Given the description of an element on the screen output the (x, y) to click on. 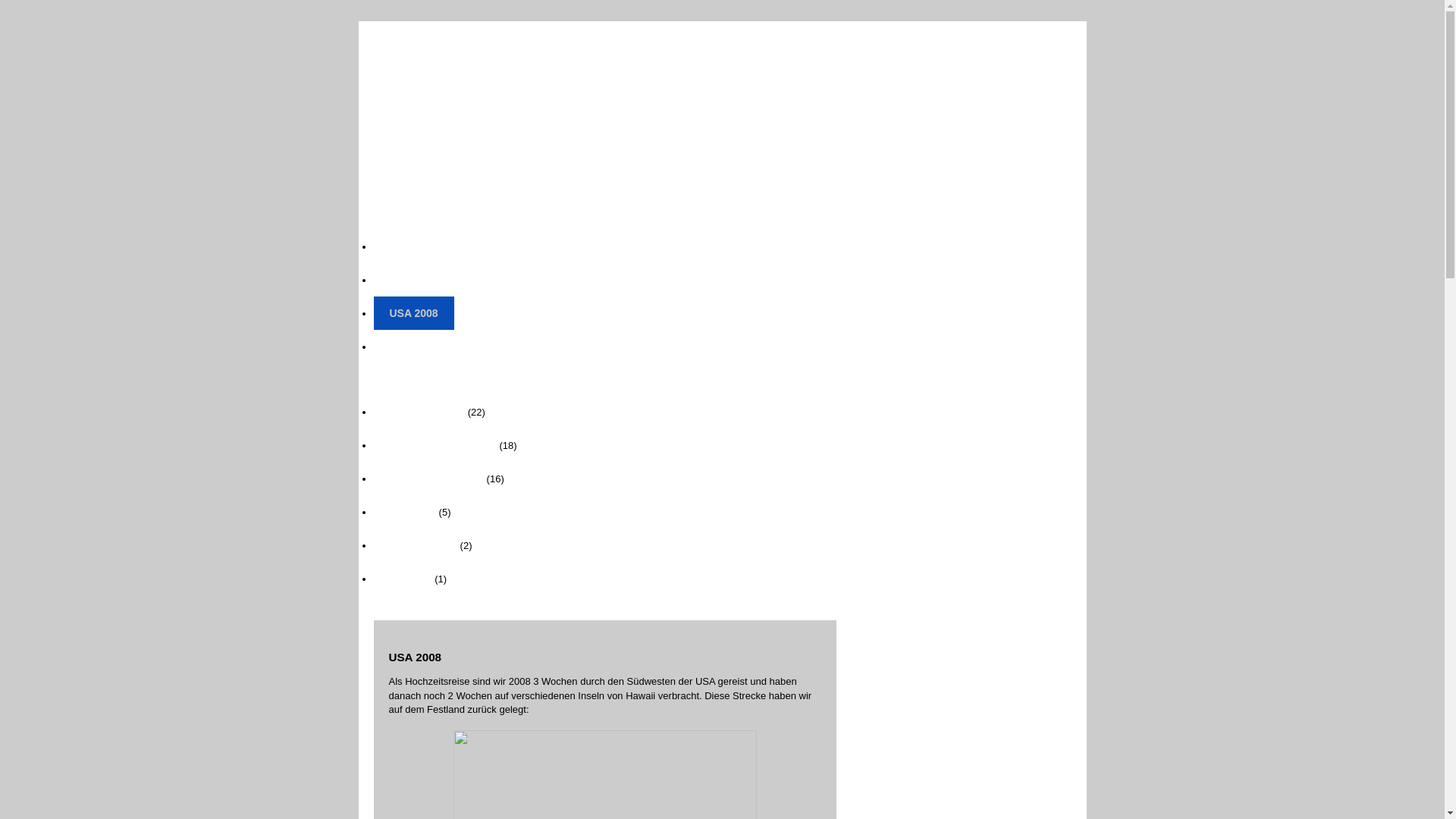
Kuba Element type: text (402, 578)
Home Element type: text (403, 246)
Explore the World Element type: text (560, 92)
Neuseeland Element type: text (418, 411)
Singapore Element type: text (414, 544)
Nord-Westen USA Element type: text (434, 444)
USA 2011 Element type: text (413, 279)
USA 2008 Element type: text (413, 312)
Island Element type: text (404, 511)
Beneluxstaaten Element type: text (428, 478)
Neuseeland 2013 Element type: text (432, 346)
